Given the description of an element on the screen output the (x, y) to click on. 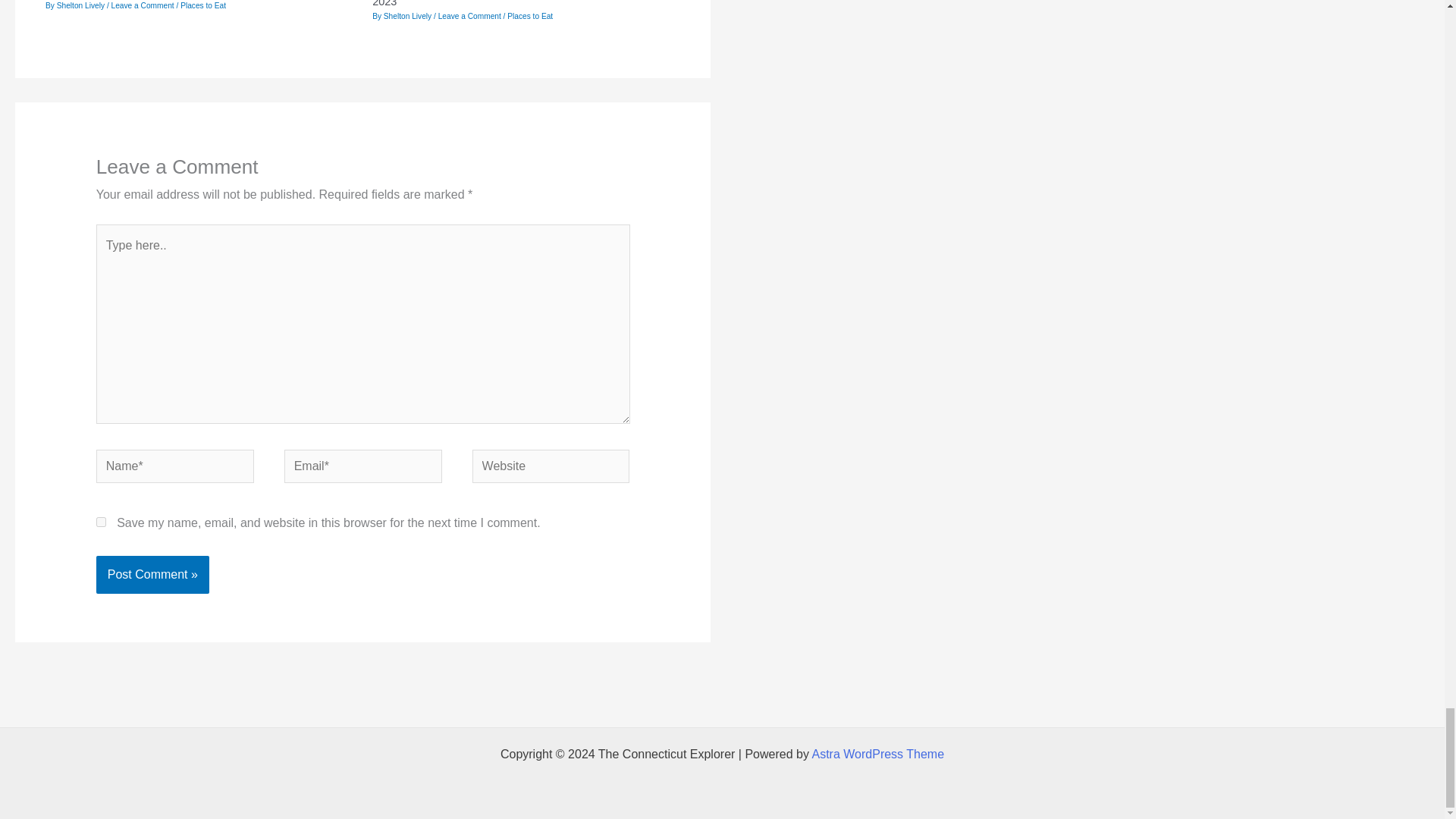
View all posts by Shelton Lively (408, 16)
View all posts by Shelton Lively (81, 5)
yes (101, 521)
Shelton Lively (81, 5)
